Given the description of an element on the screen output the (x, y) to click on. 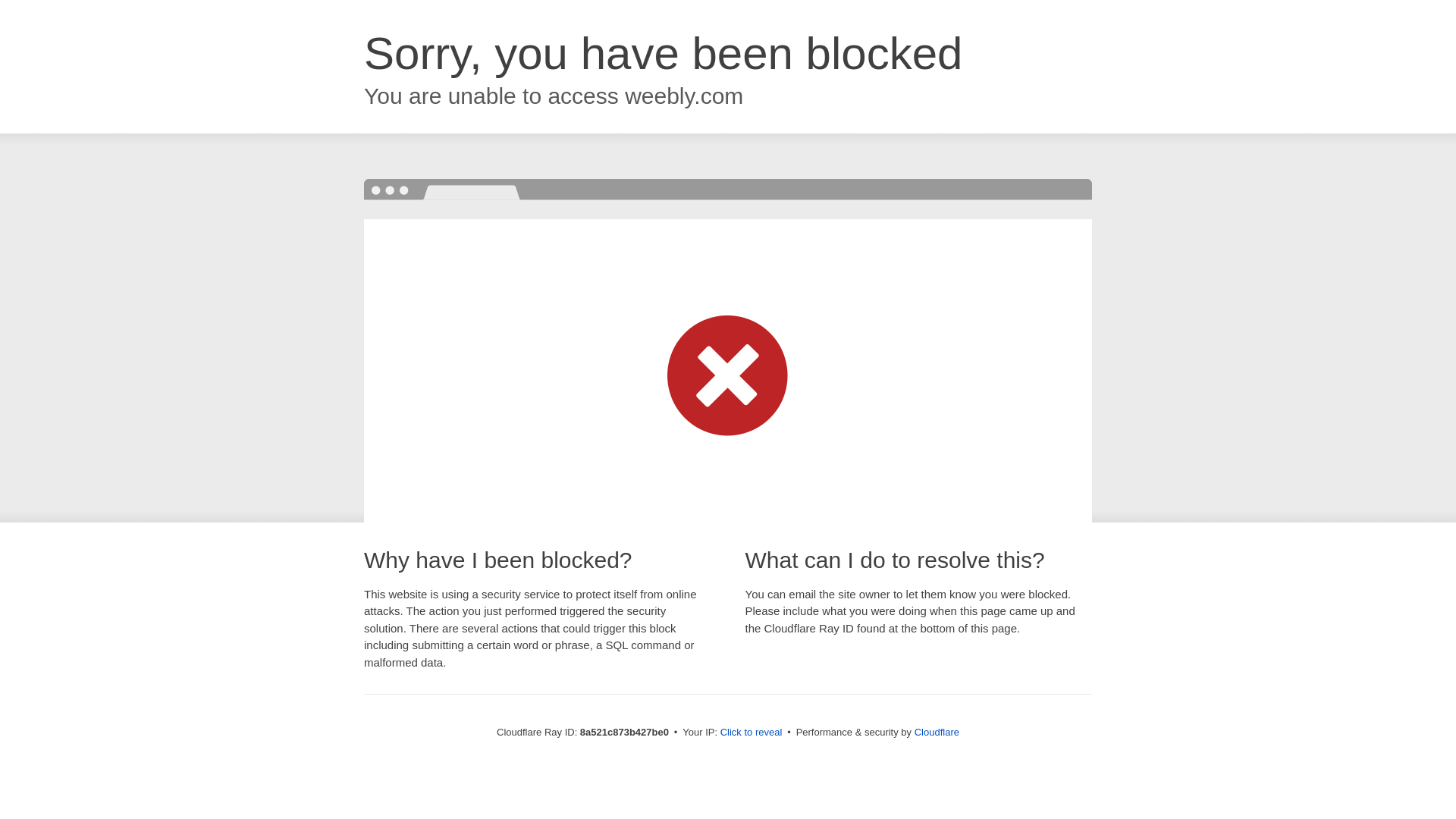
Cloudflare (936, 731)
Click to reveal (751, 732)
